Given the description of an element on the screen output the (x, y) to click on. 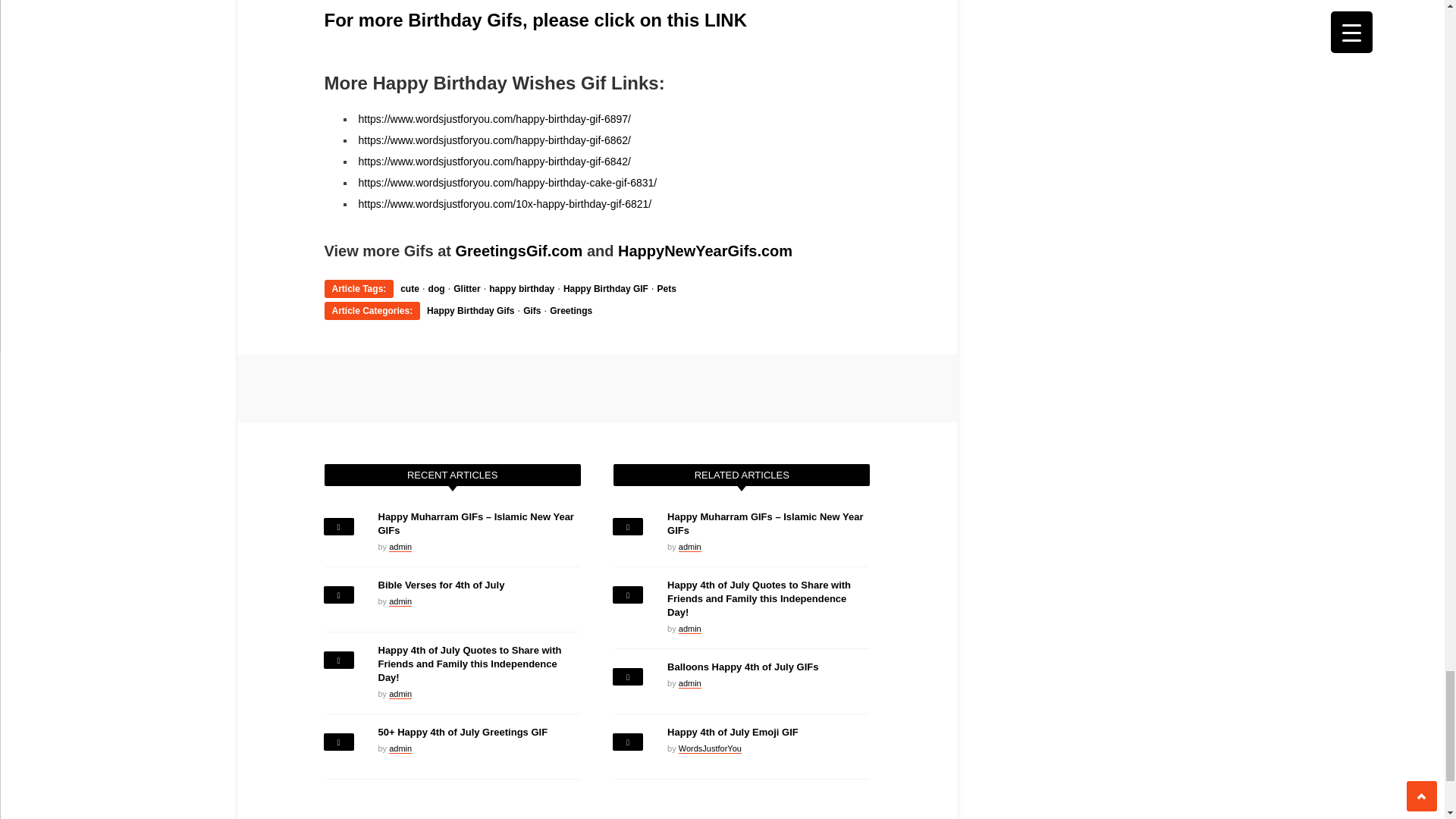
Posts by admin (400, 694)
Posts by admin (400, 601)
Posts by admin (689, 683)
Posts by admin (689, 547)
Posts by admin (400, 547)
Posts by admin (400, 748)
Posts by admin (689, 628)
